Given the description of an element on the screen output the (x, y) to click on. 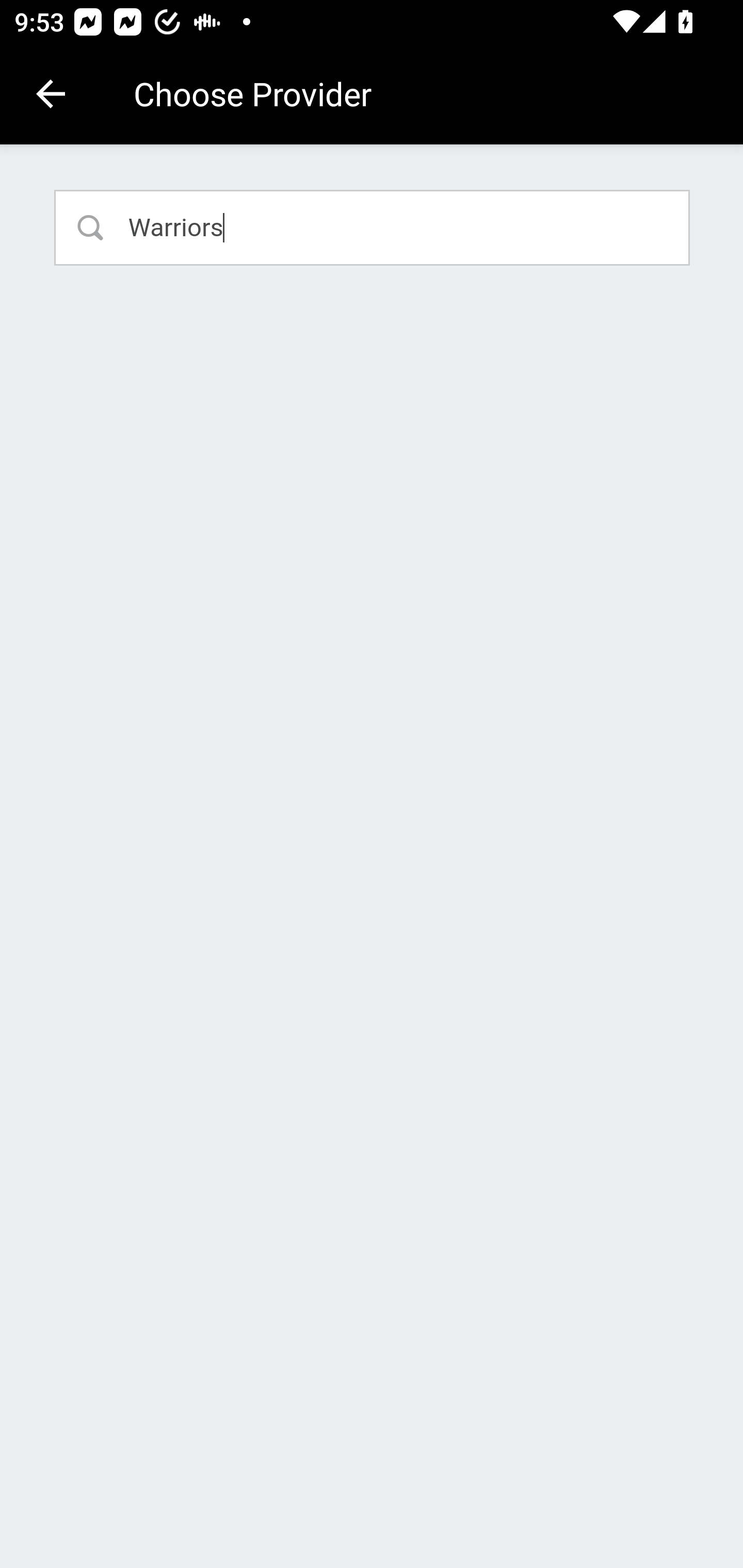
Navigate up (50, 93)
Warriors (372, 227)
